Given the description of an element on the screen output the (x, y) to click on. 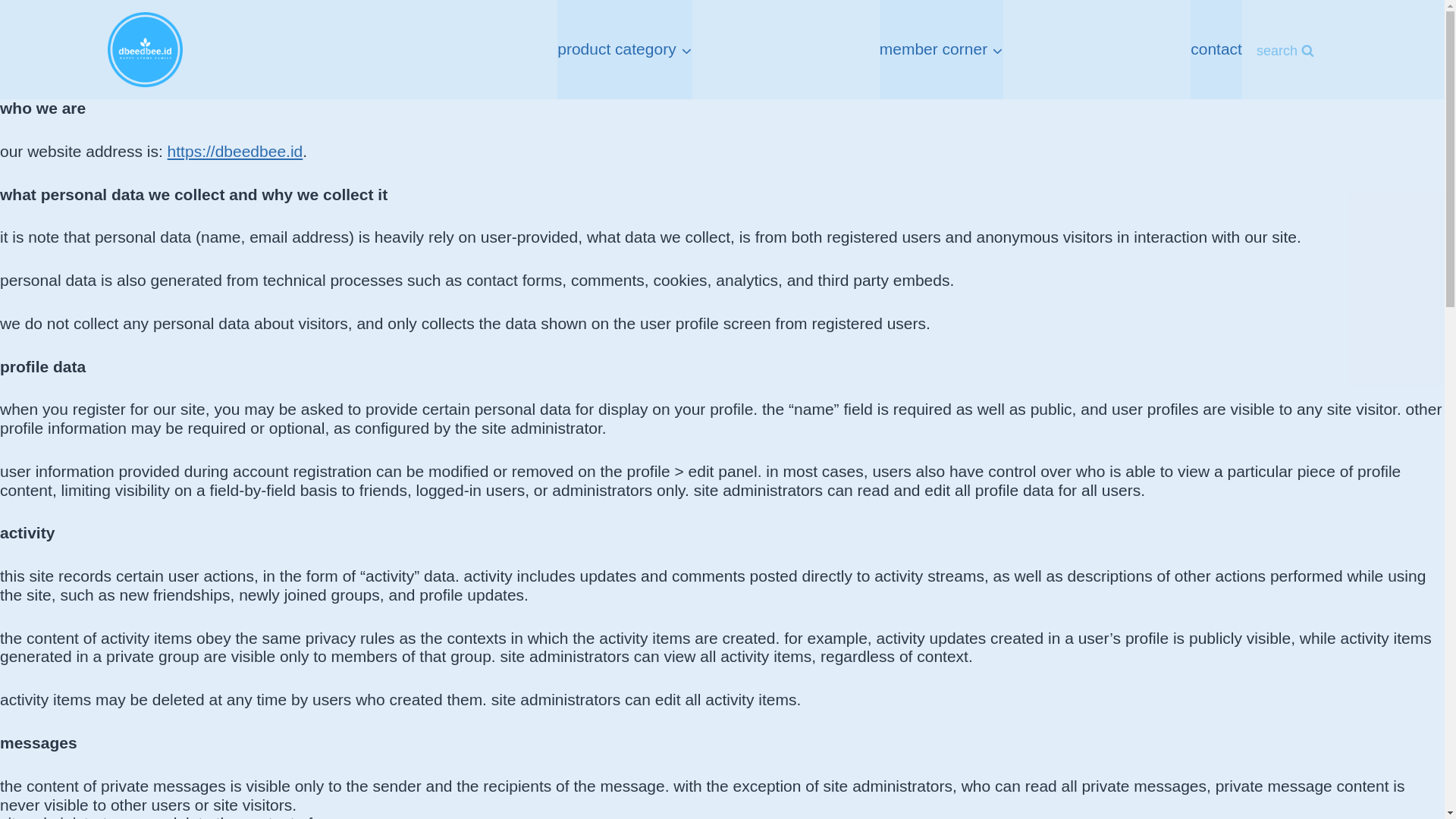
product category (624, 49)
member corner (941, 49)
search (1284, 50)
